Given the description of an element on the screen output the (x, y) to click on. 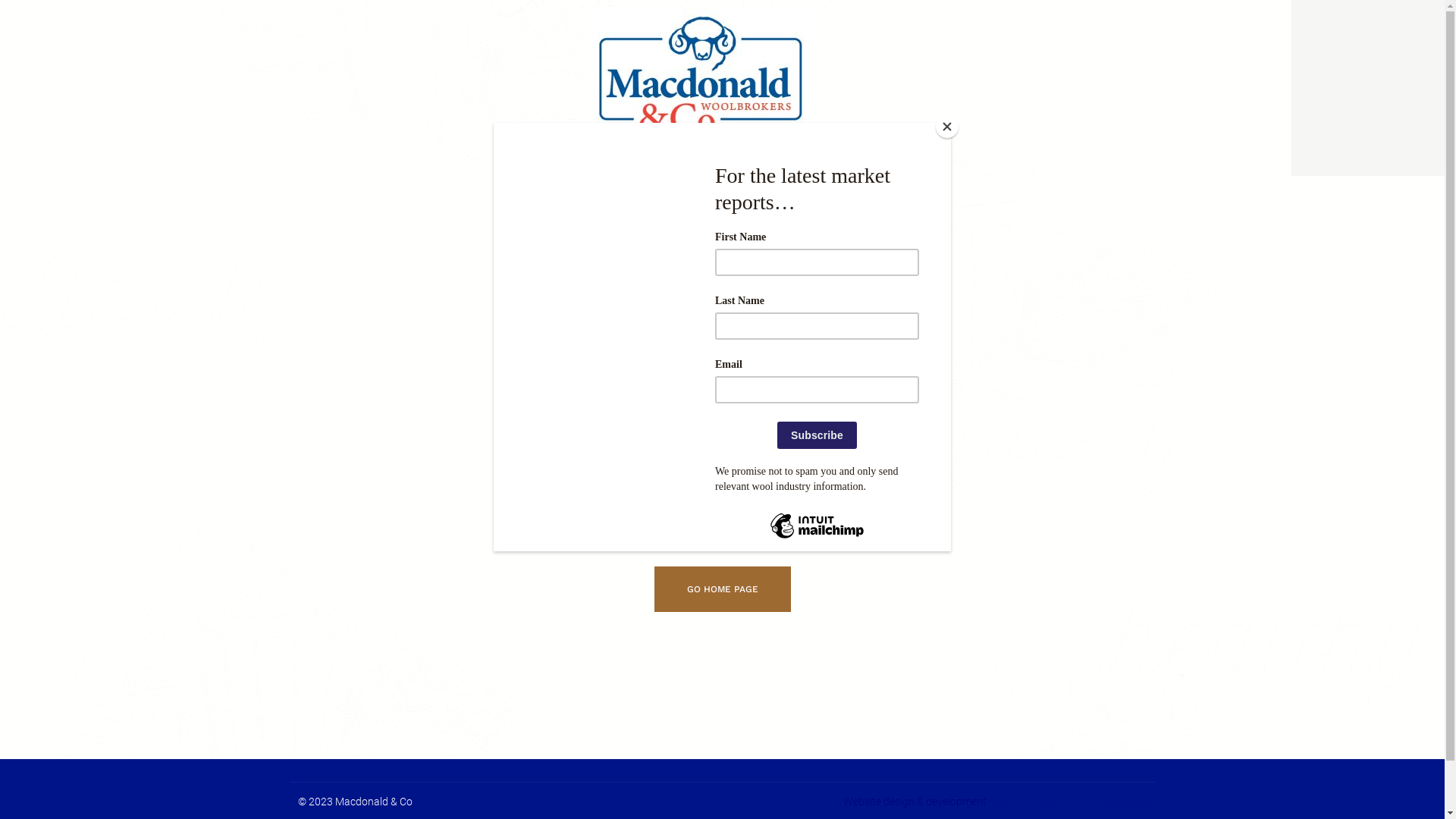
GO HOME PAGE Element type: text (721, 588)
Computer Research & Technology Element type: text (1067, 801)
